Given the description of an element on the screen output the (x, y) to click on. 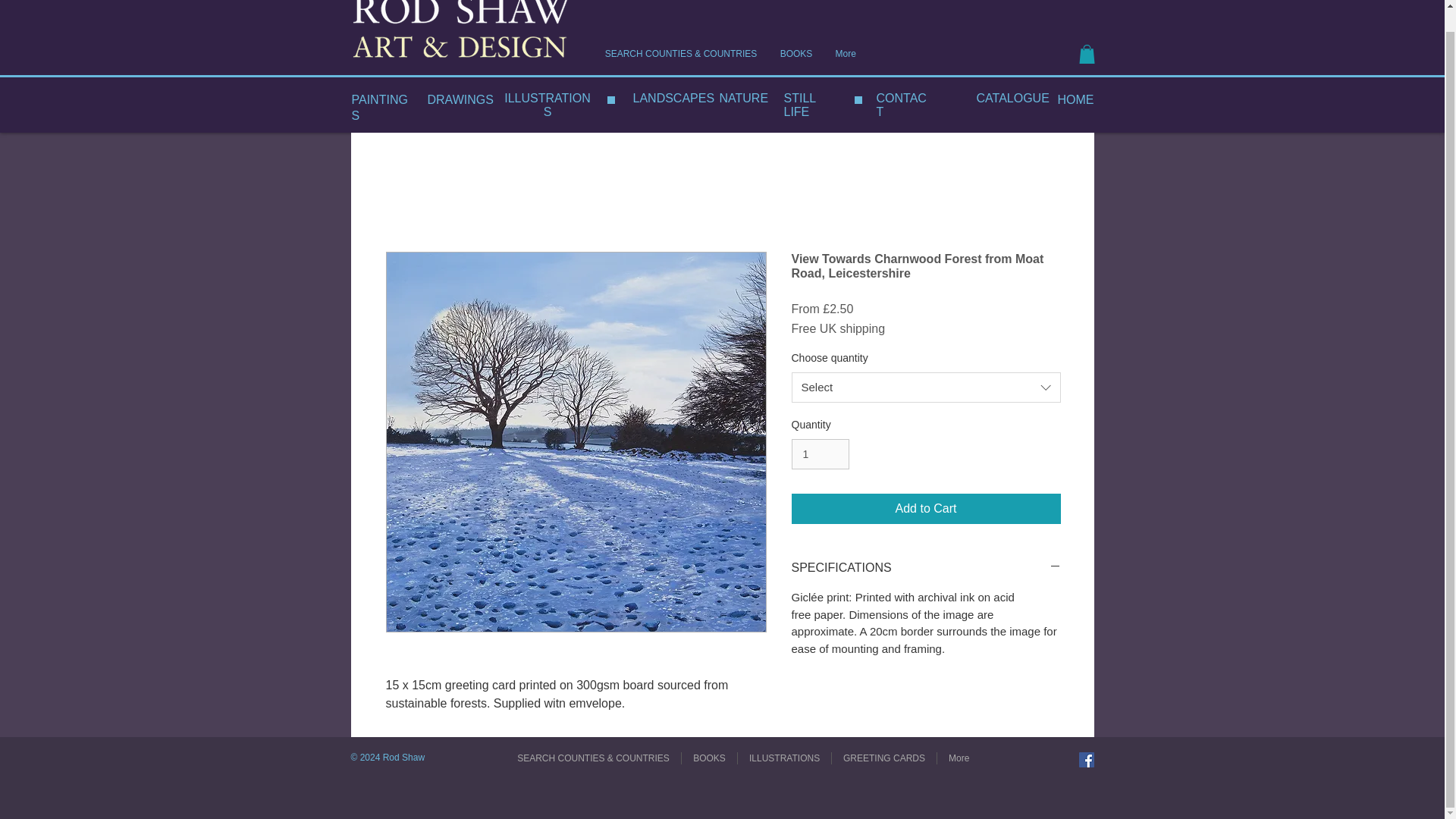
rod-shaw-art-design-wordpress-300x114.png (461, 31)
CONTACT (901, 104)
BOOKS (796, 53)
CATALOGUE (1012, 97)
NATURE  (745, 97)
HOME (1075, 99)
PAINTINGS (379, 107)
DRAWINGS (460, 99)
LANDSCAPES (672, 97)
1 (820, 454)
ILLUSTRATIONS (547, 104)
STILL LIFE (799, 104)
